Given the description of an element on the screen output the (x, y) to click on. 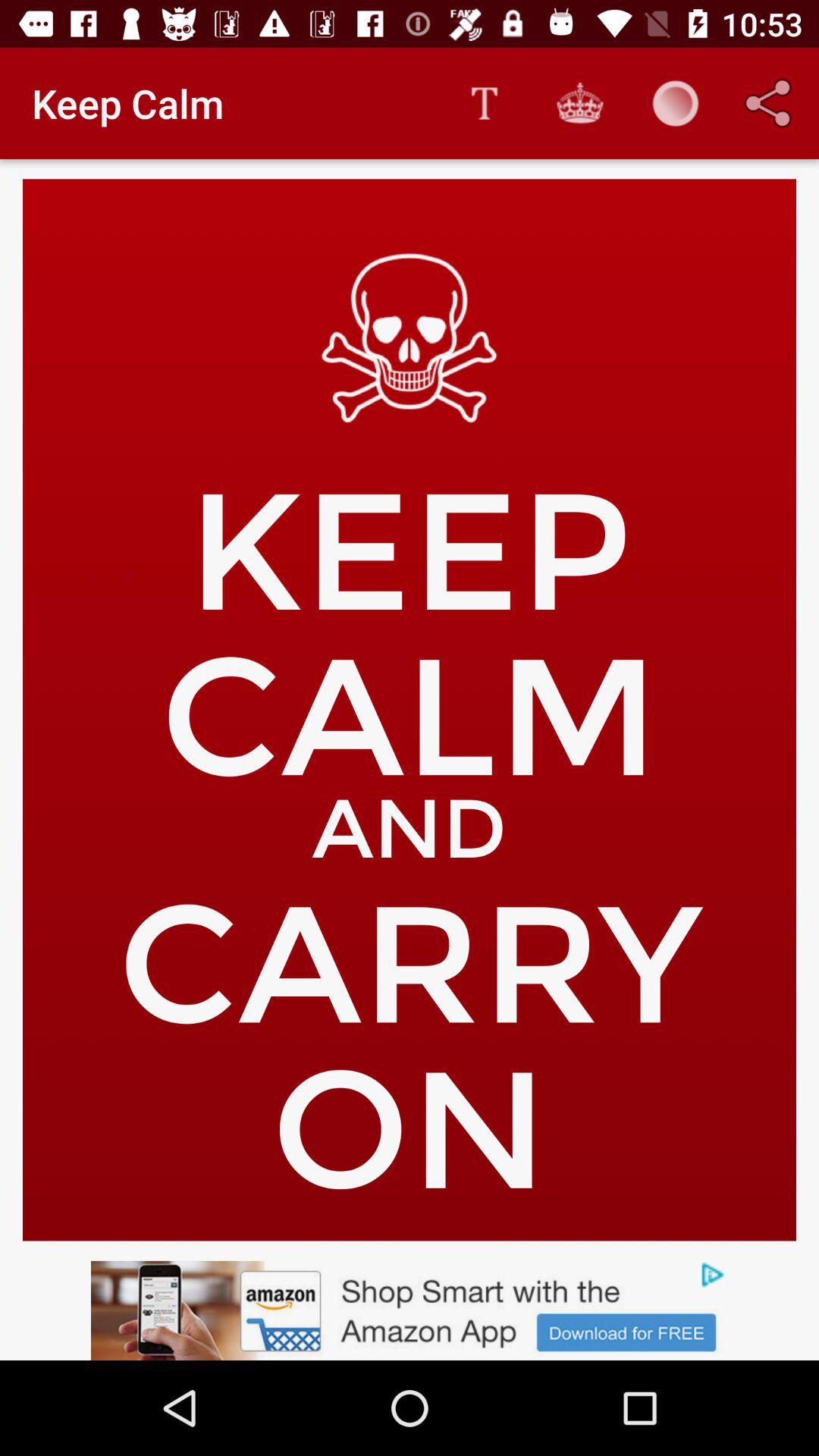
press the item to the right of the keep calm icon (484, 103)
